Given the description of an element on the screen output the (x, y) to click on. 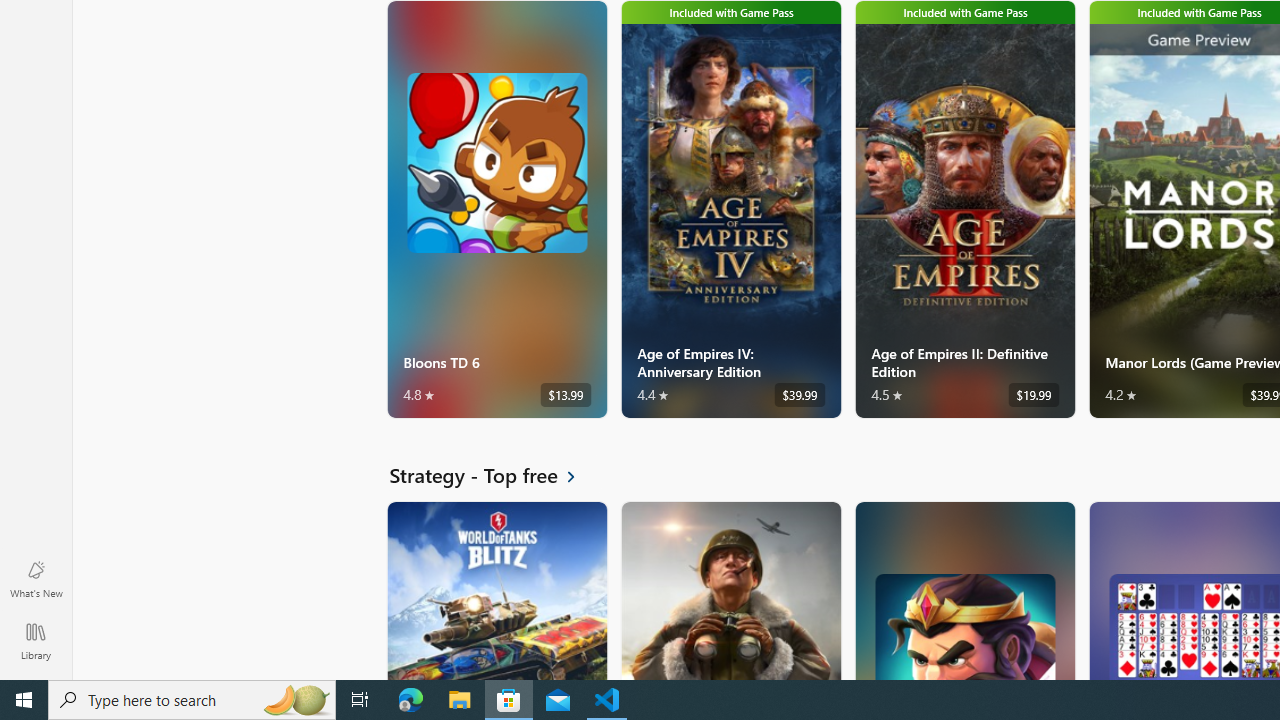
See all  Strategy - Top free (494, 475)
What's New (35, 578)
Library (35, 640)
